Given the description of an element on the screen output the (x, y) to click on. 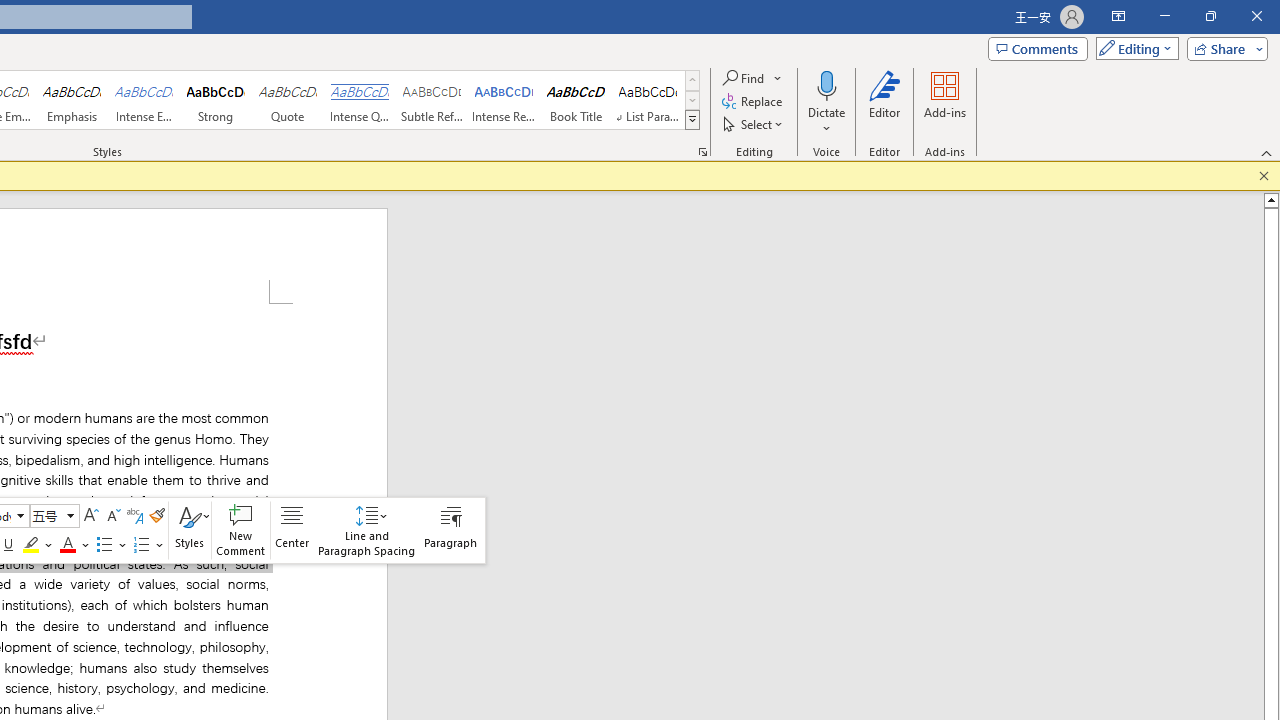
Intense Quote (359, 100)
Class: NetUIAnchor (366, 530)
Intense Reference (504, 100)
Intense Emphasis (143, 100)
Book Title (575, 100)
New Comment (241, 530)
